Given the description of an element on the screen output the (x, y) to click on. 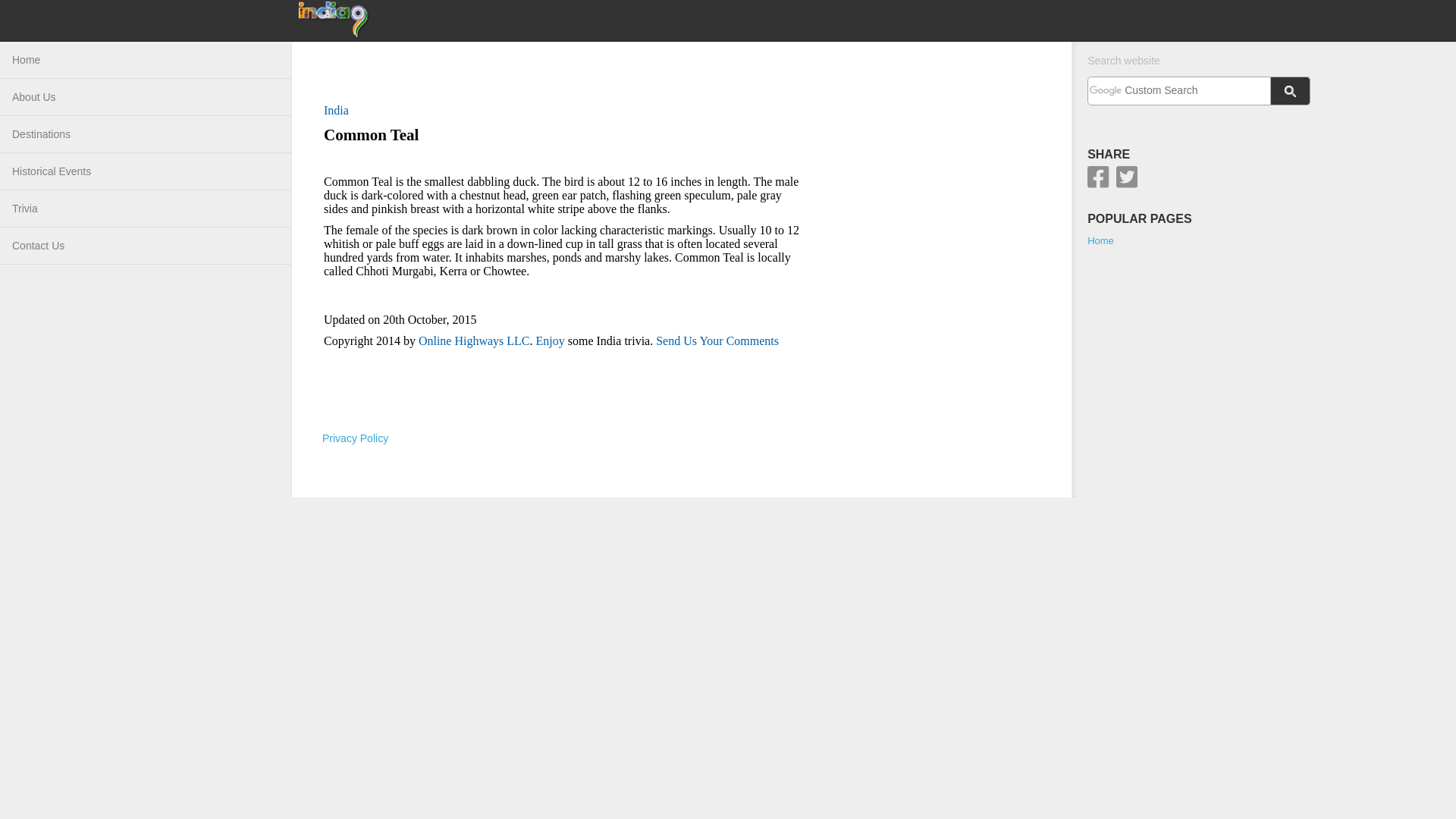
search (1178, 90)
Enjoy (549, 340)
search (1290, 90)
Home (145, 59)
Online Highways LLC (474, 340)
Home (1100, 240)
Historical Events (145, 171)
Privacy Policy (354, 438)
About Us (145, 97)
Trivia (145, 208)
